Given the description of an element on the screen output the (x, y) to click on. 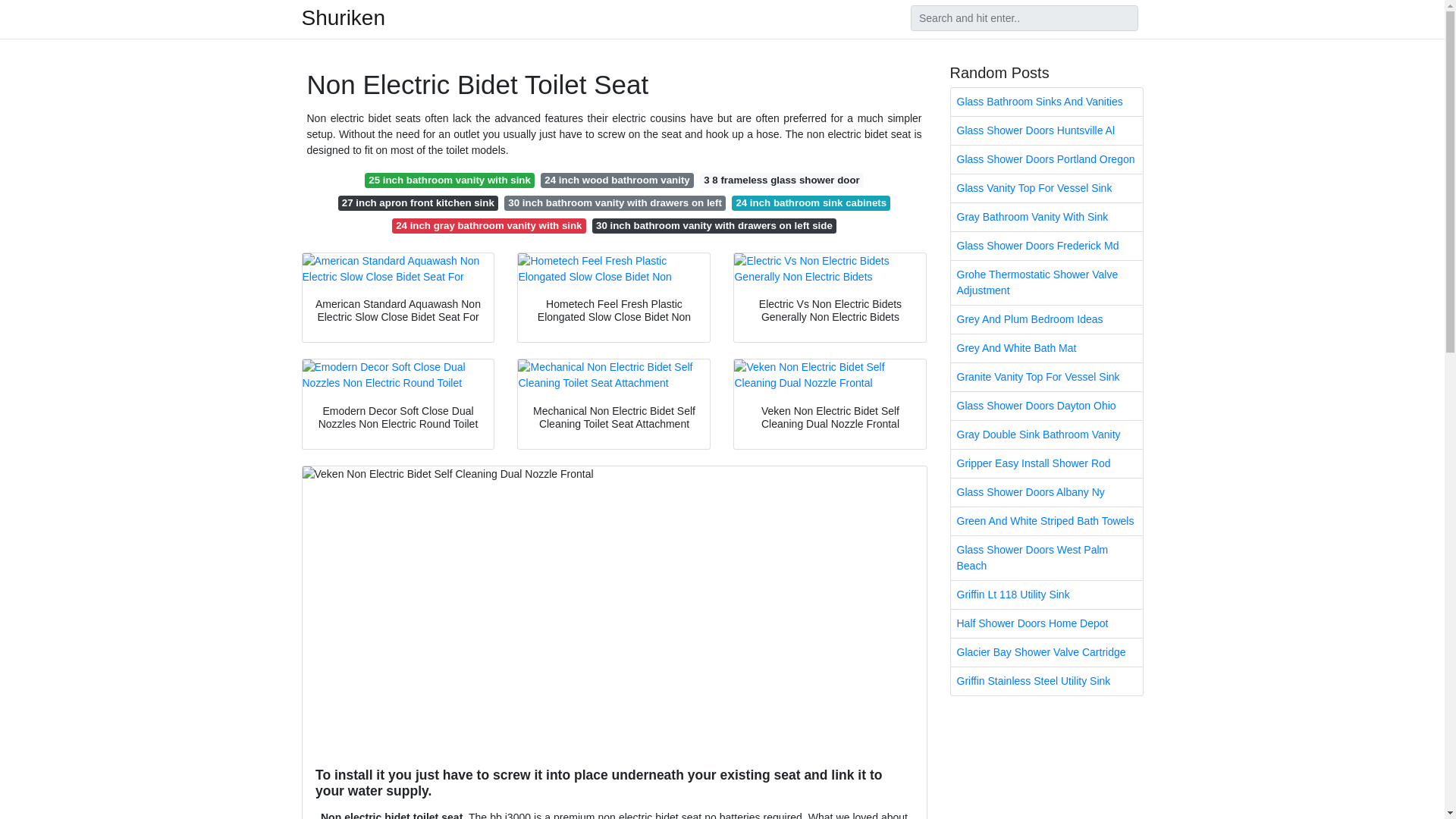
24 inch gray bathroom vanity with sink (488, 225)
27 inch apron front kitchen sink (418, 202)
25 inch bathroom vanity with sink (449, 180)
Gray Bathroom Vanity With Sink (1046, 216)
24 inch bathroom sink cabinets (810, 202)
Glass Shower Doors Frederick Md (1046, 245)
Grohe Thermostatic Shower Valve Adjustment (1046, 282)
Grey And Plum Bedroom Ideas (1046, 319)
30 inch bathroom vanity with drawers on left (614, 202)
3 8 frameless glass shower door (781, 180)
Glass Bathroom Sinks And Vanities (1046, 101)
Glass Vanity Top For Vessel Sink (1046, 188)
Glass Shower Doors Huntsville Al (1046, 130)
Shuriken (343, 18)
30 inch bathroom vanity with drawers on left side (713, 225)
